Given the description of an element on the screen output the (x, y) to click on. 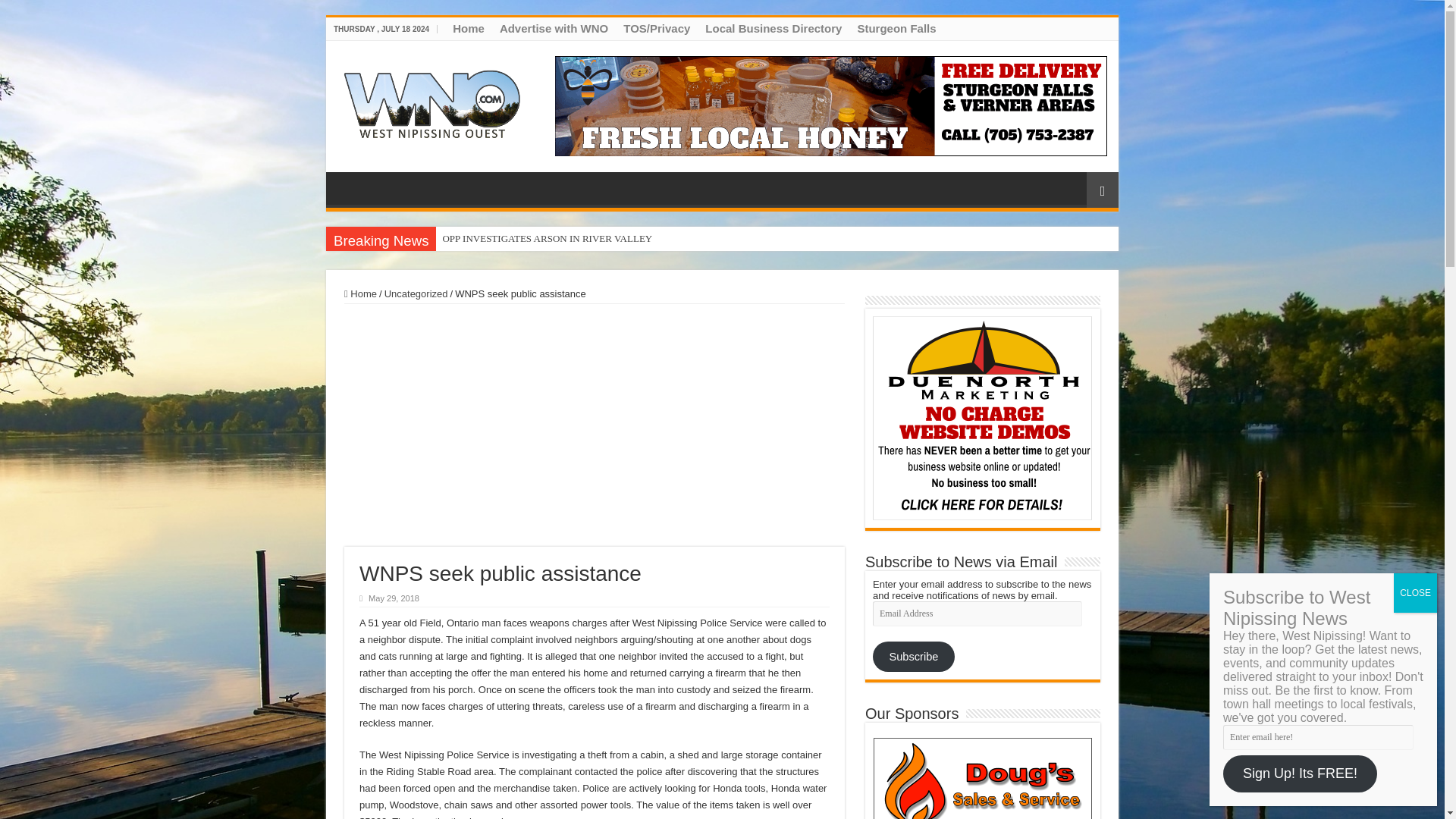
OPP INVESTIGATES ARSON IN RIVER VALLEY (546, 238)
Uncategorized (416, 293)
Home (360, 293)
Subscribe (913, 656)
Advertise with WNO (553, 28)
OPP INVESTIGATES ARSON IN RIVER VALLEY (546, 238)
Home (468, 28)
Sturgeon Falls (895, 28)
Local Business Directory (772, 28)
Advertisement (593, 425)
